Given the description of an element on the screen output the (x, y) to click on. 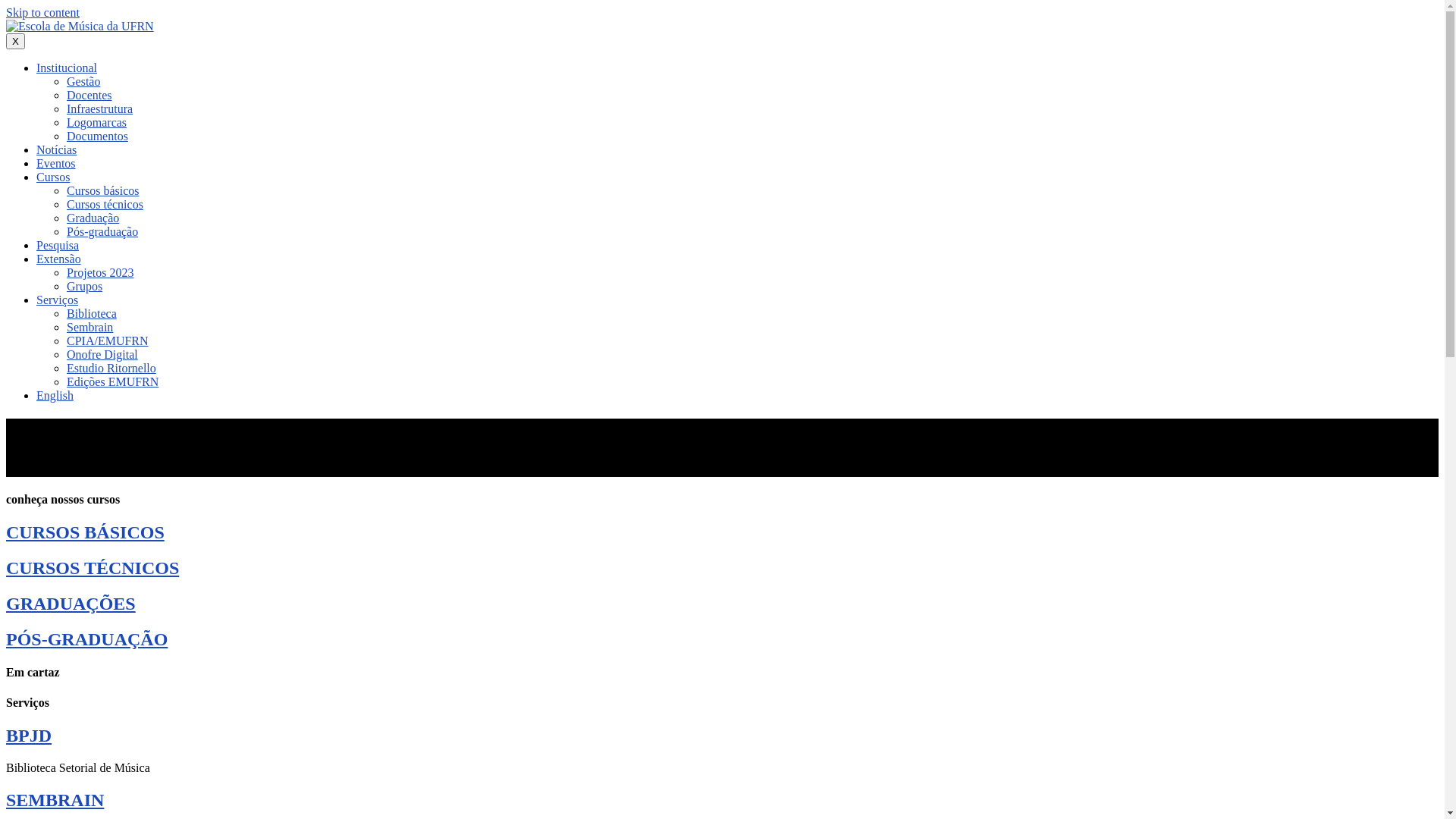
X Element type: text (15, 41)
Infraestrutura Element type: text (99, 108)
Sembrain Element type: text (89, 326)
Pesquisa Element type: text (57, 244)
Eventos Element type: text (55, 162)
CPIA/EMUFRN Element type: text (107, 340)
Biblioteca Element type: text (91, 313)
Documentos Element type: text (97, 135)
English Element type: text (54, 395)
BPJD Element type: text (28, 735)
Docentes Element type: text (89, 94)
Institucional Element type: text (66, 67)
Skip to content Element type: text (42, 12)
Onofre Digital Element type: text (102, 354)
SEMBRAIN Element type: text (54, 799)
Logomarcas Element type: text (96, 122)
Projetos 2023 Element type: text (99, 272)
Estudio Ritornello Element type: text (111, 367)
Grupos Element type: text (84, 285)
Cursos Element type: text (52, 176)
